Given the description of an element on the screen output the (x, y) to click on. 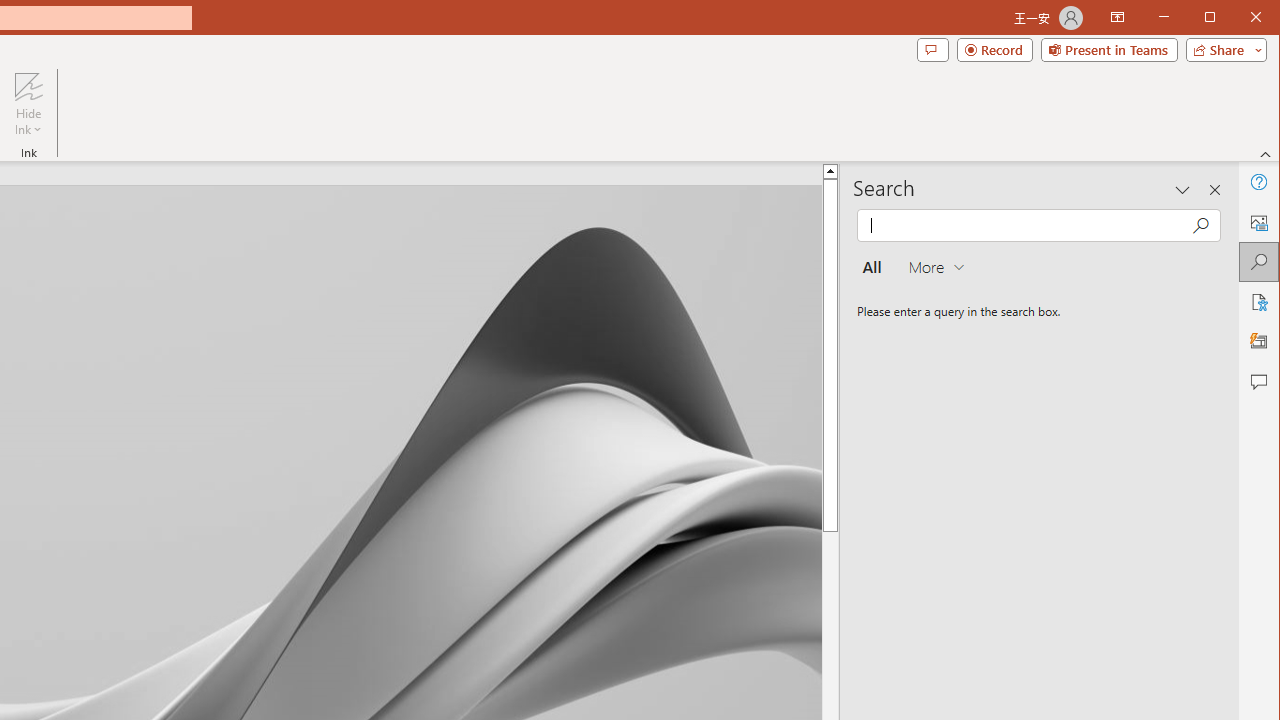
Alt Text (1258, 221)
Search (1258, 261)
Maximize (1238, 18)
Hide Ink (28, 86)
Hide Ink (28, 104)
